Given the description of an element on the screen output the (x, y) to click on. 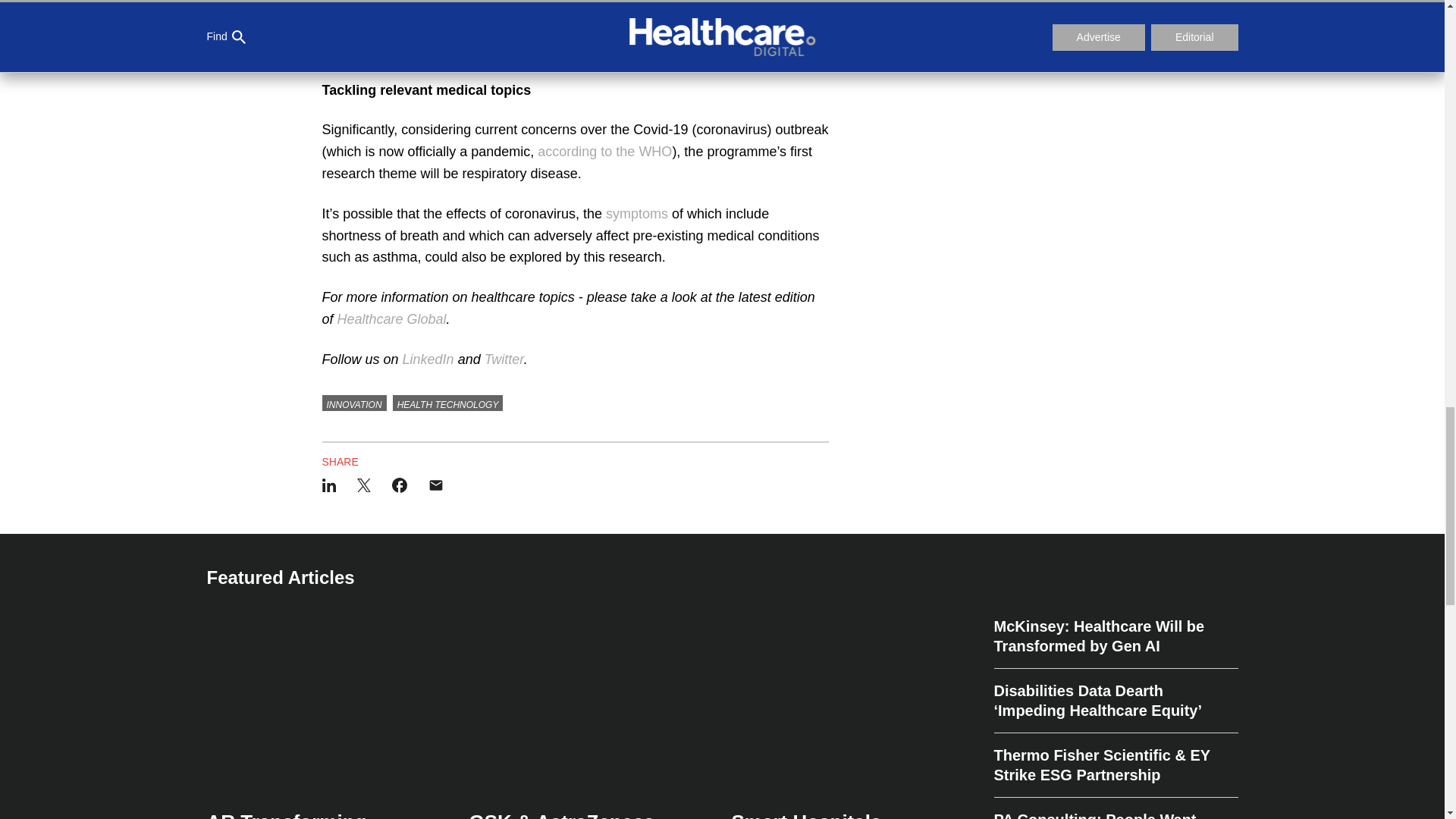
symptoms (636, 213)
Twitter (504, 359)
INNOVATION (353, 402)
according to the WHO (604, 151)
HEALTH TECHNOLOGY (448, 402)
Healthcare Global (391, 319)
McKinsey: Healthcare Will be Transformed by Gen AI (1114, 642)
LinkedIn (428, 359)
